Given the description of an element on the screen output the (x, y) to click on. 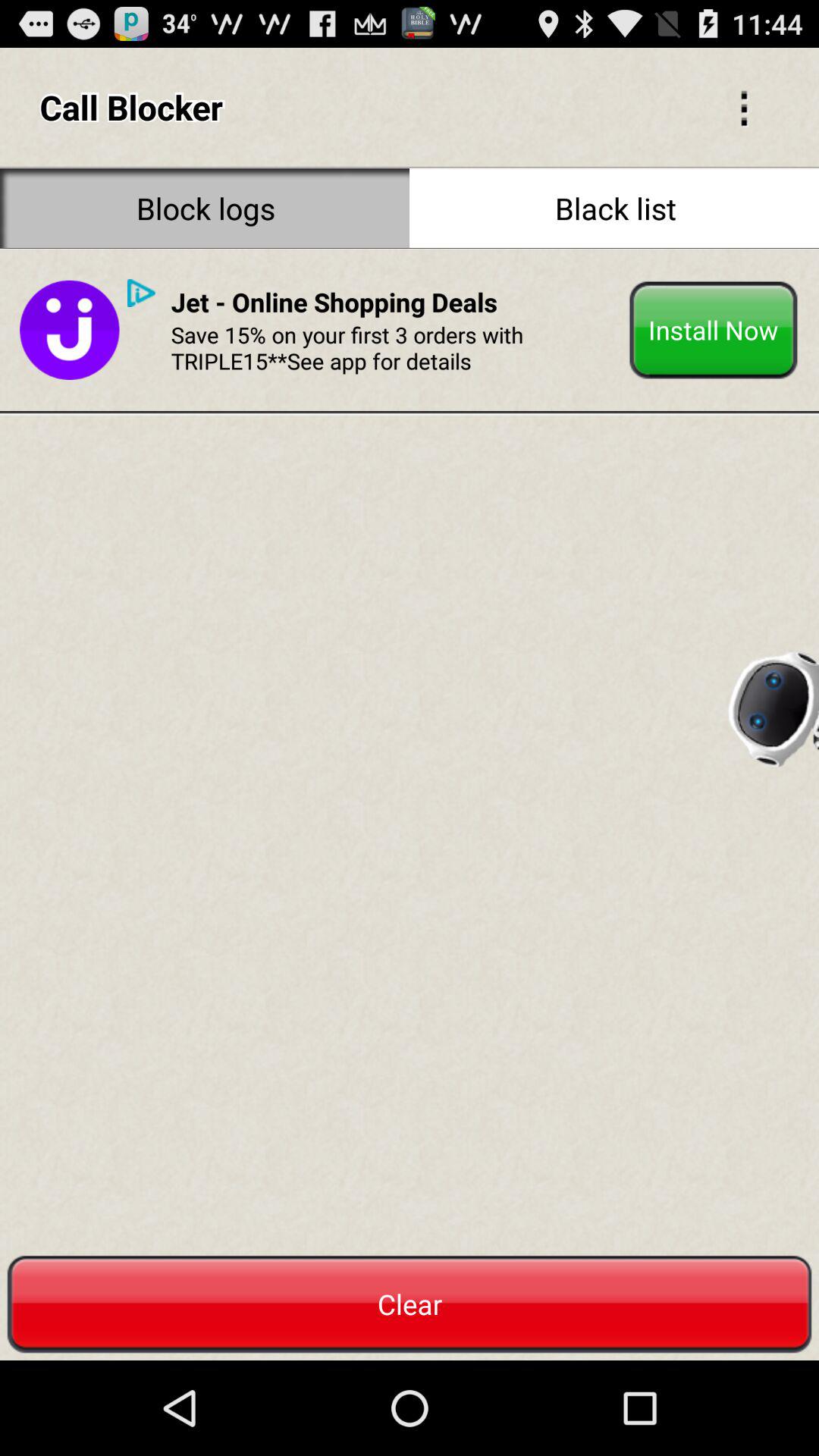
launch the button next to black list (204, 207)
